Given the description of an element on the screen output the (x, y) to click on. 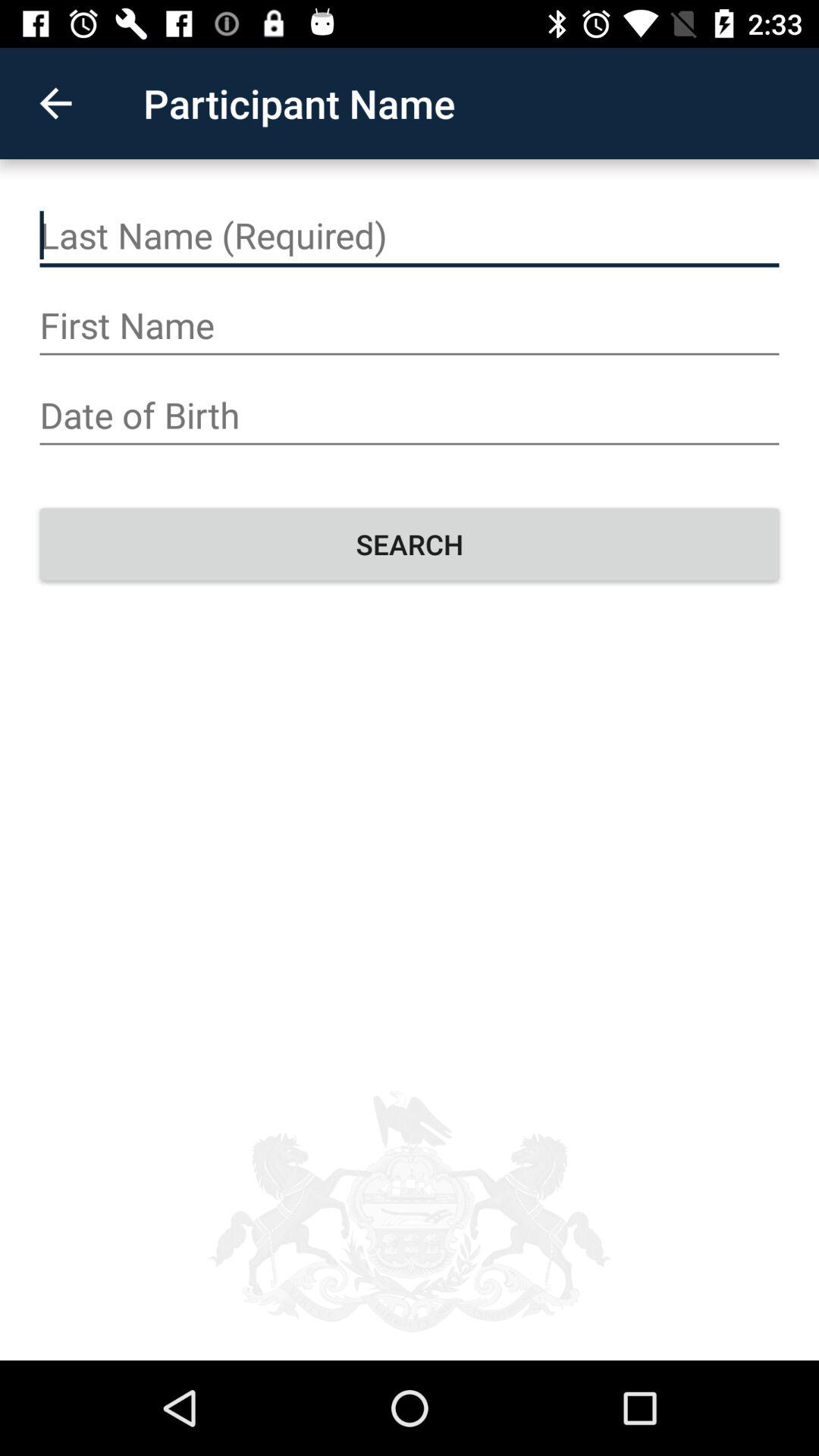
open the icon to the left of the participant name (55, 103)
